Given the description of an element on the screen output the (x, y) to click on. 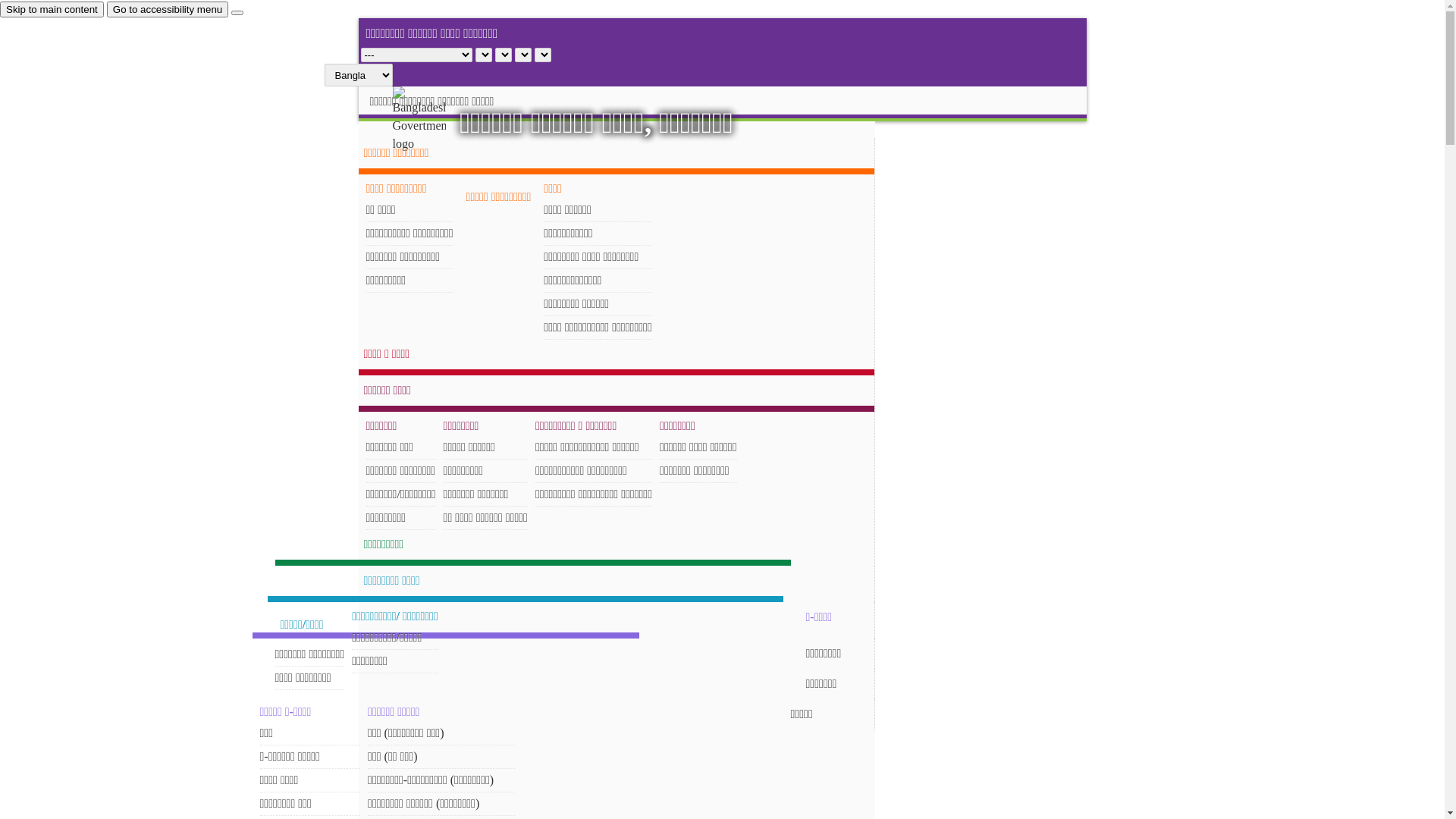
close Element type: hover (237, 12)
Skip to main content Element type: text (51, 9)

                
             Element type: hover (431, 119)
Go to accessibility menu Element type: text (167, 9)
